Given the description of an element on the screen output the (x, y) to click on. 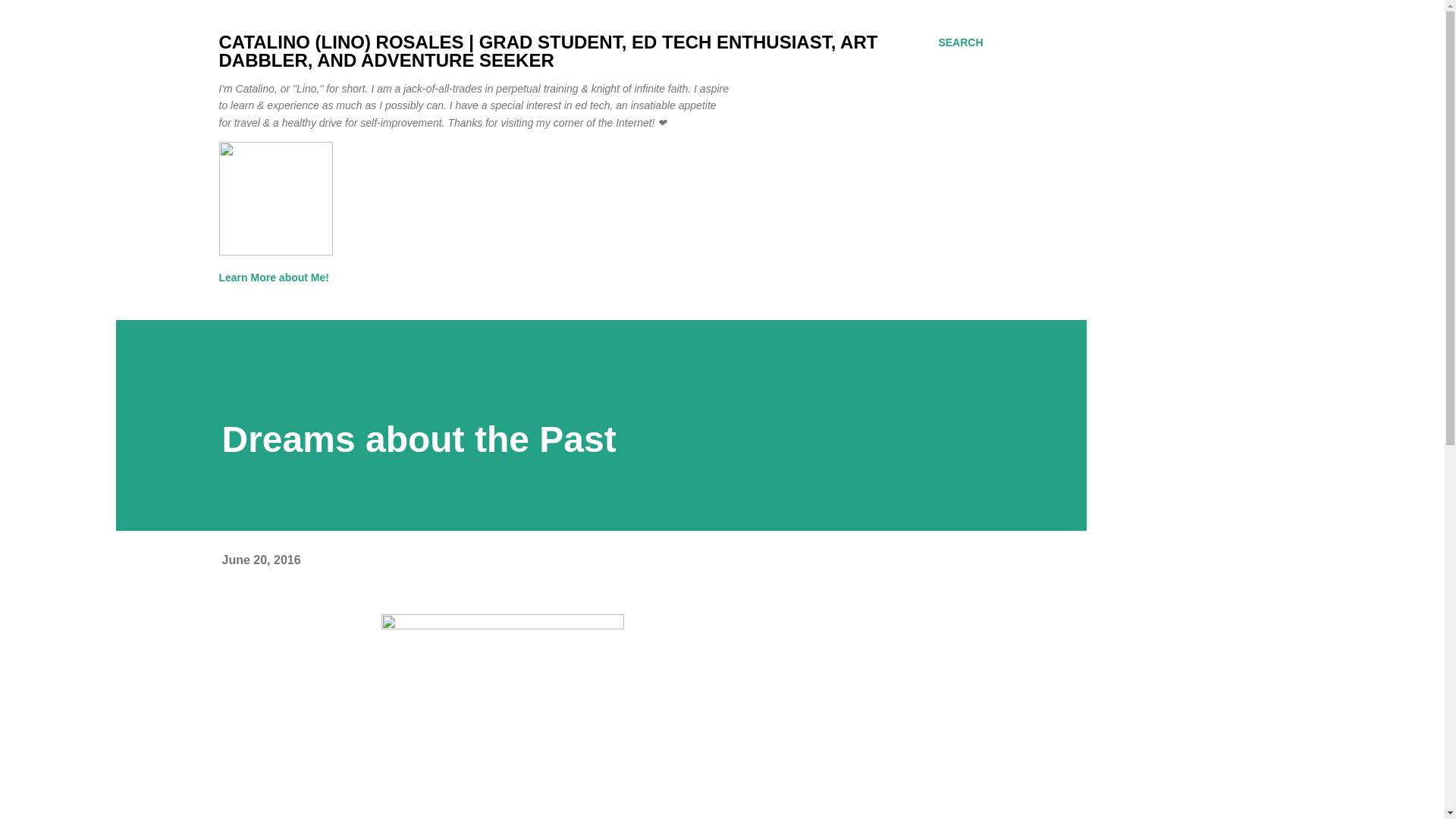
SEARCH (959, 42)
June 20, 2016 (260, 559)
Learn More about Me! (277, 277)
permanent link (260, 559)
